Given the description of an element on the screen output the (x, y) to click on. 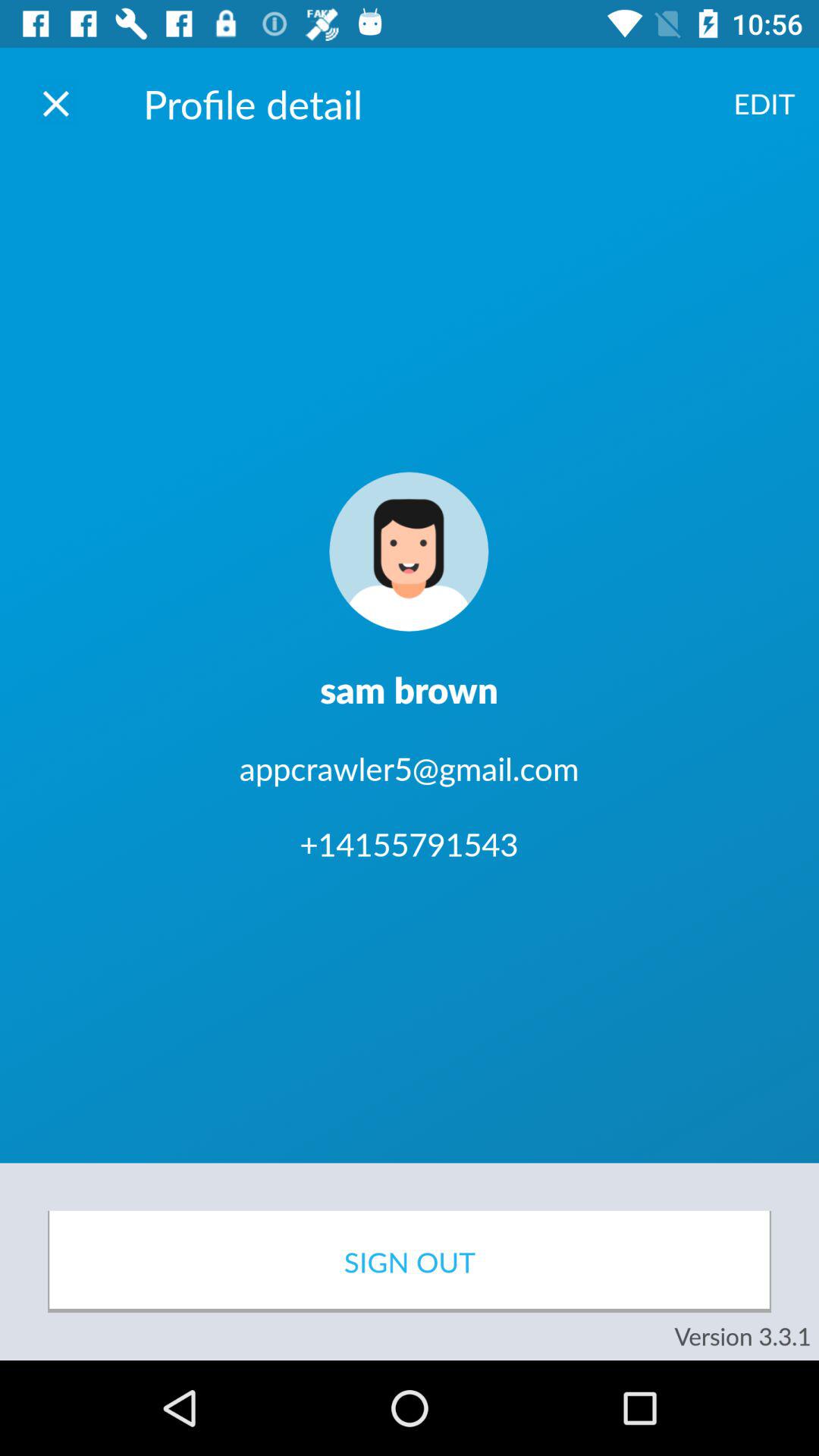
click the icon to the left of profile detail item (55, 103)
